Given the description of an element on the screen output the (x, y) to click on. 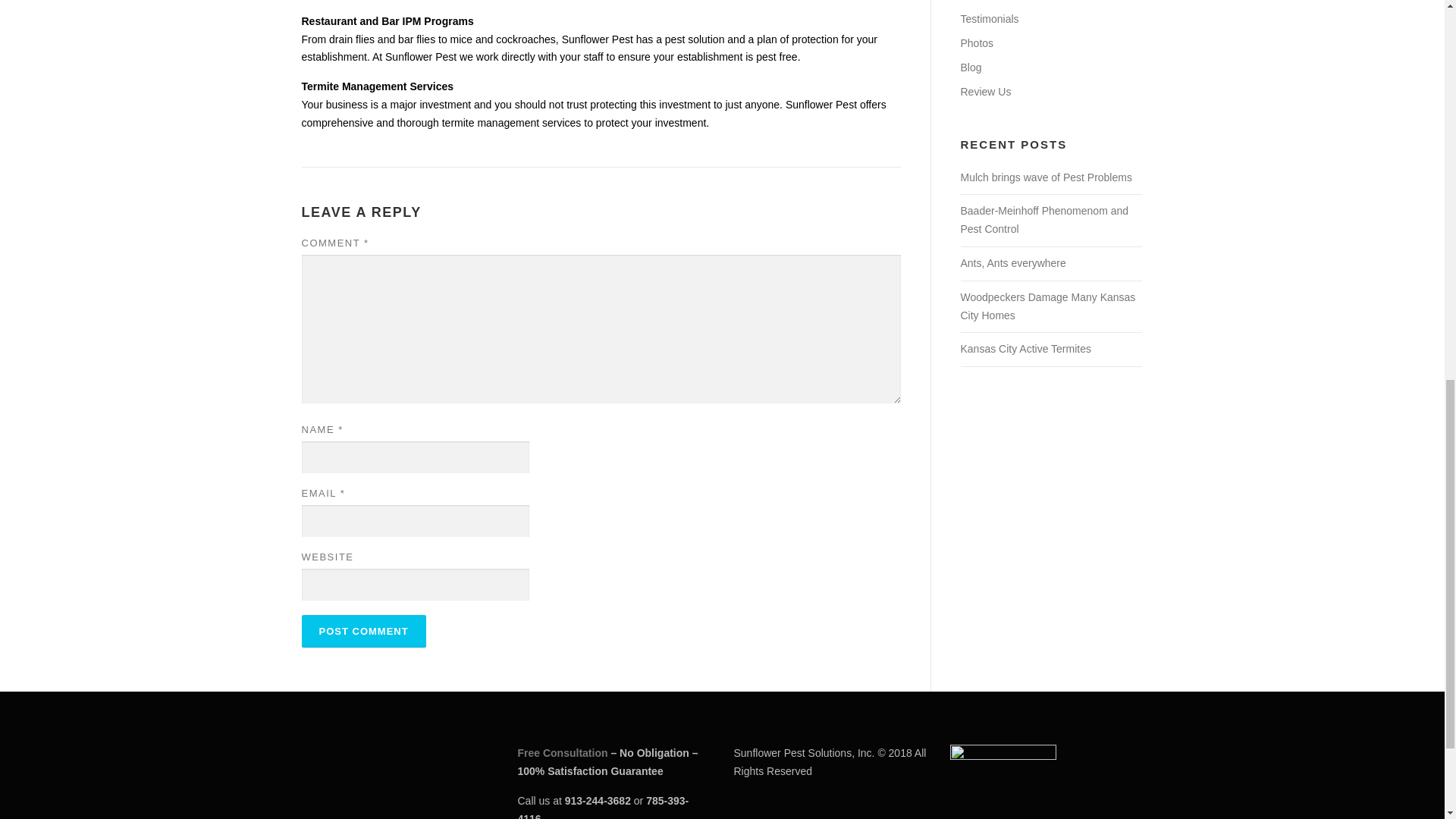
Termite Management Services (377, 86)
Post Comment (363, 631)
Post Comment (363, 631)
Termite Control (377, 86)
Testimonials (988, 19)
Photos (975, 42)
Commerical Services (1009, 0)
